Given the description of an element on the screen output the (x, y) to click on. 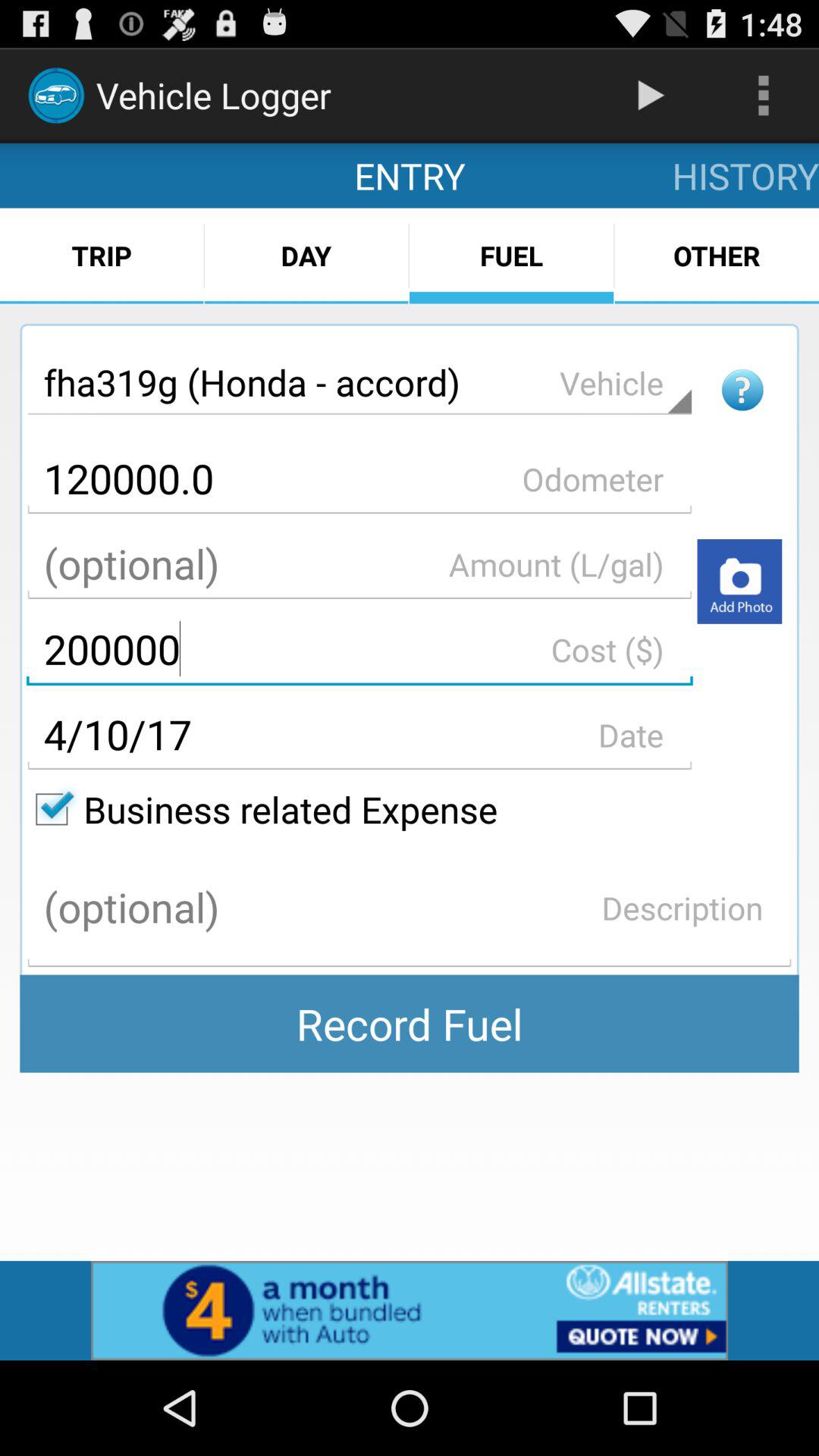
add photo (739, 580)
